Given the description of an element on the screen output the (x, y) to click on. 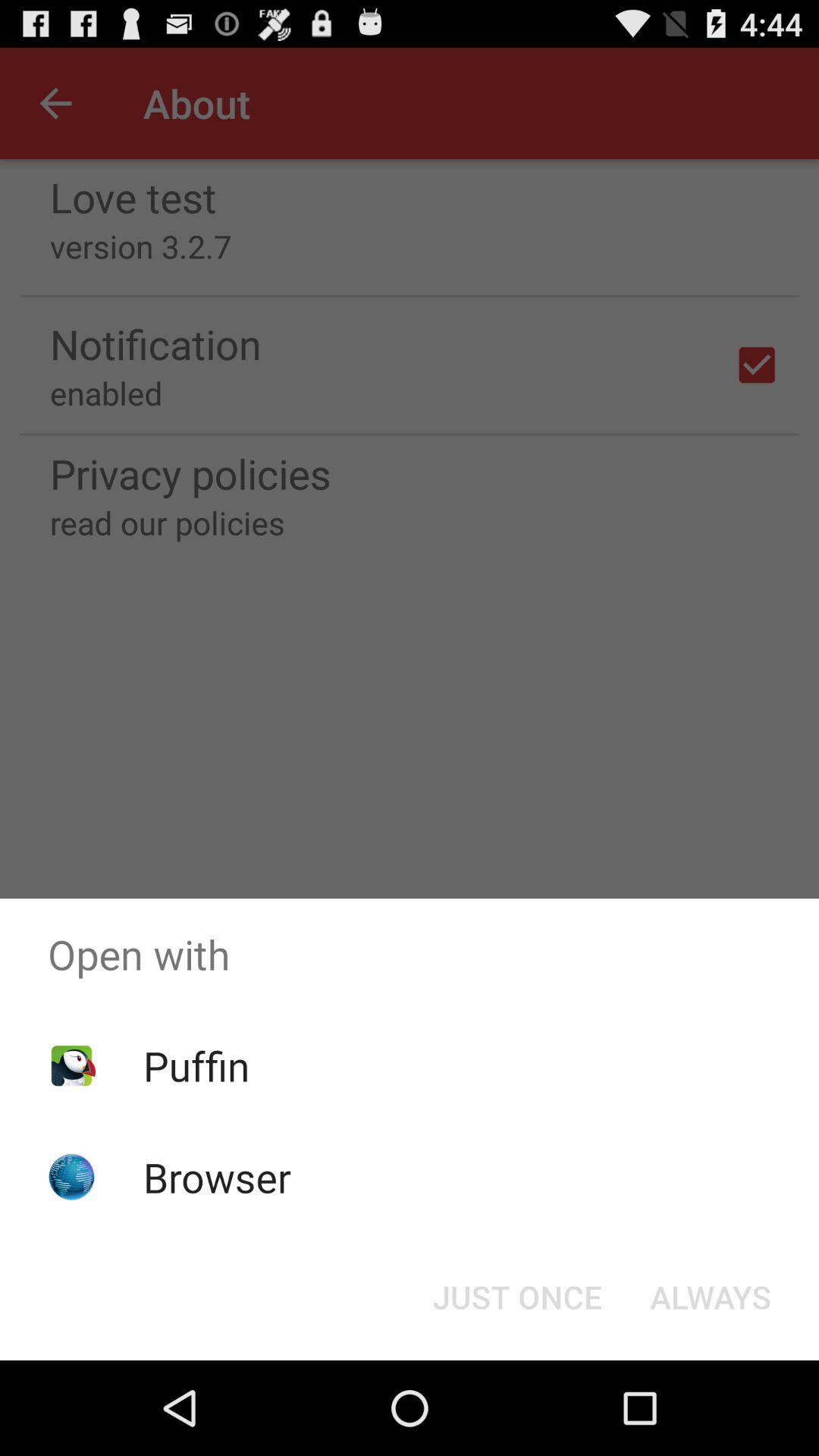
jump to the always icon (710, 1296)
